Given the description of an element on the screen output the (x, y) to click on. 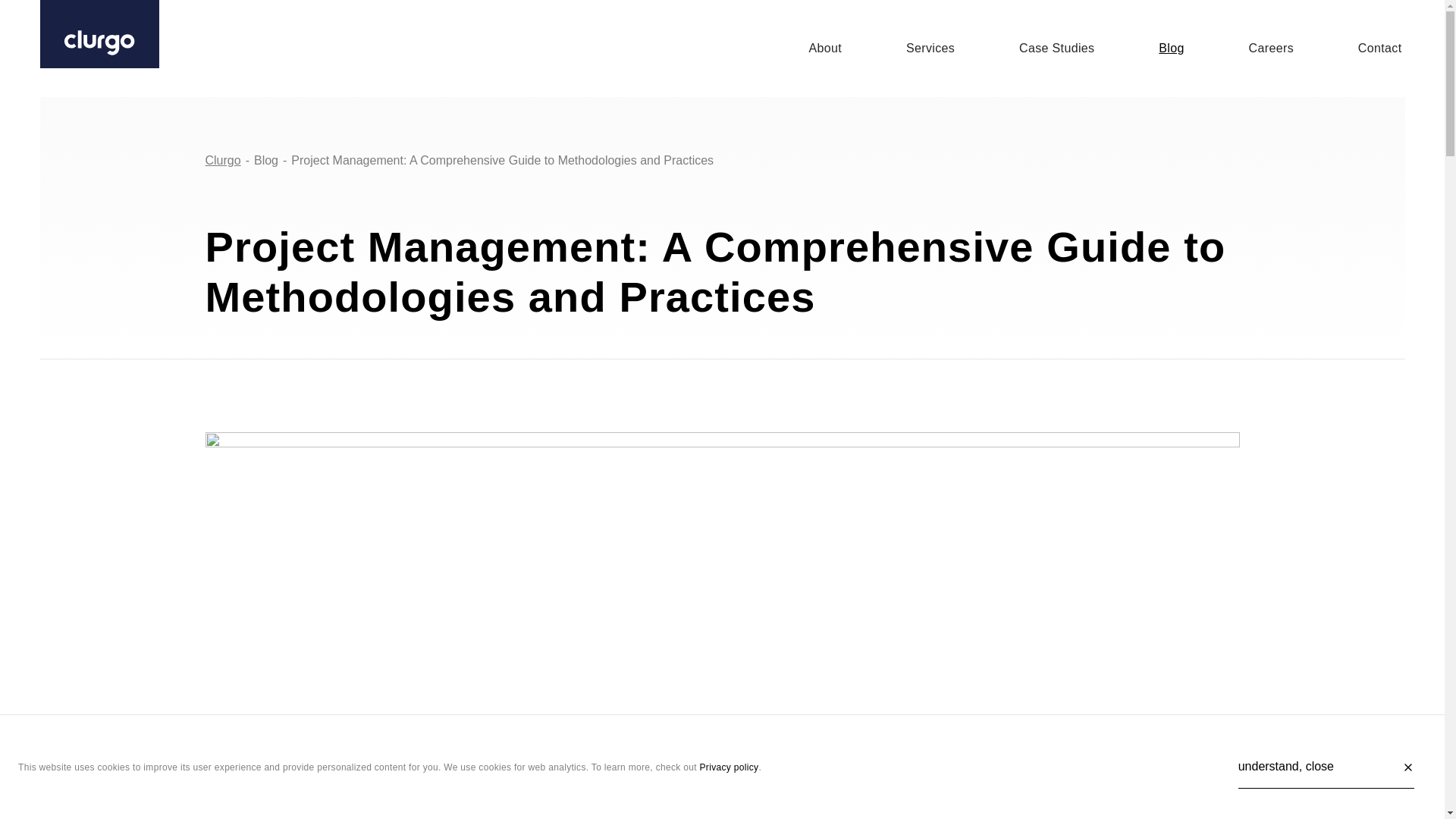
Clurgo (222, 160)
Blog (1171, 47)
Blog (265, 160)
Privacy policy (729, 766)
Case Studies (1056, 47)
understand, close (1326, 766)
Contact (1380, 47)
Services (930, 47)
About (824, 47)
Careers (1271, 47)
